Given the description of an element on the screen output the (x, y) to click on. 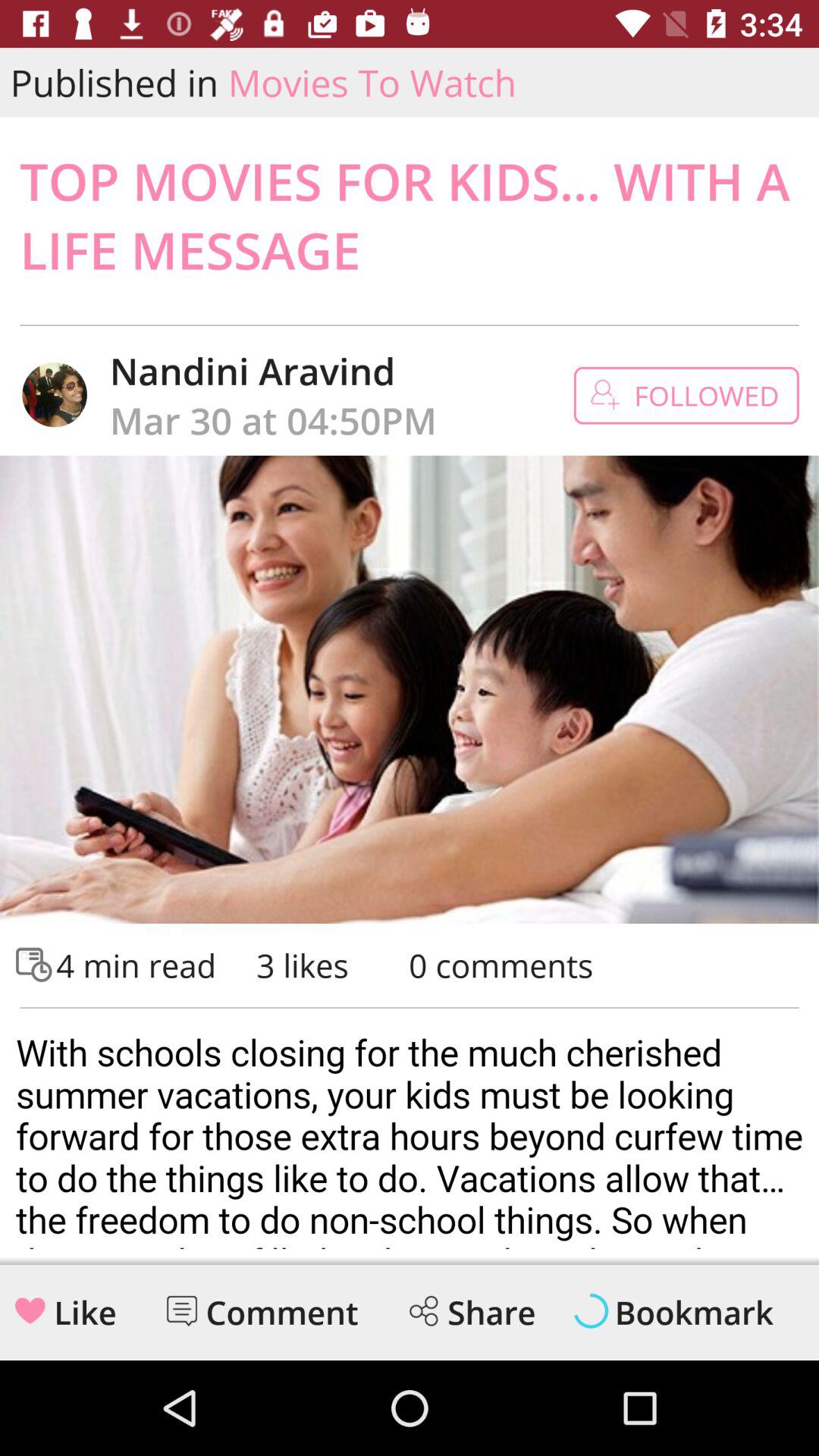
text display screen (409, 1133)
